Given the description of an element on the screen output the (x, y) to click on. 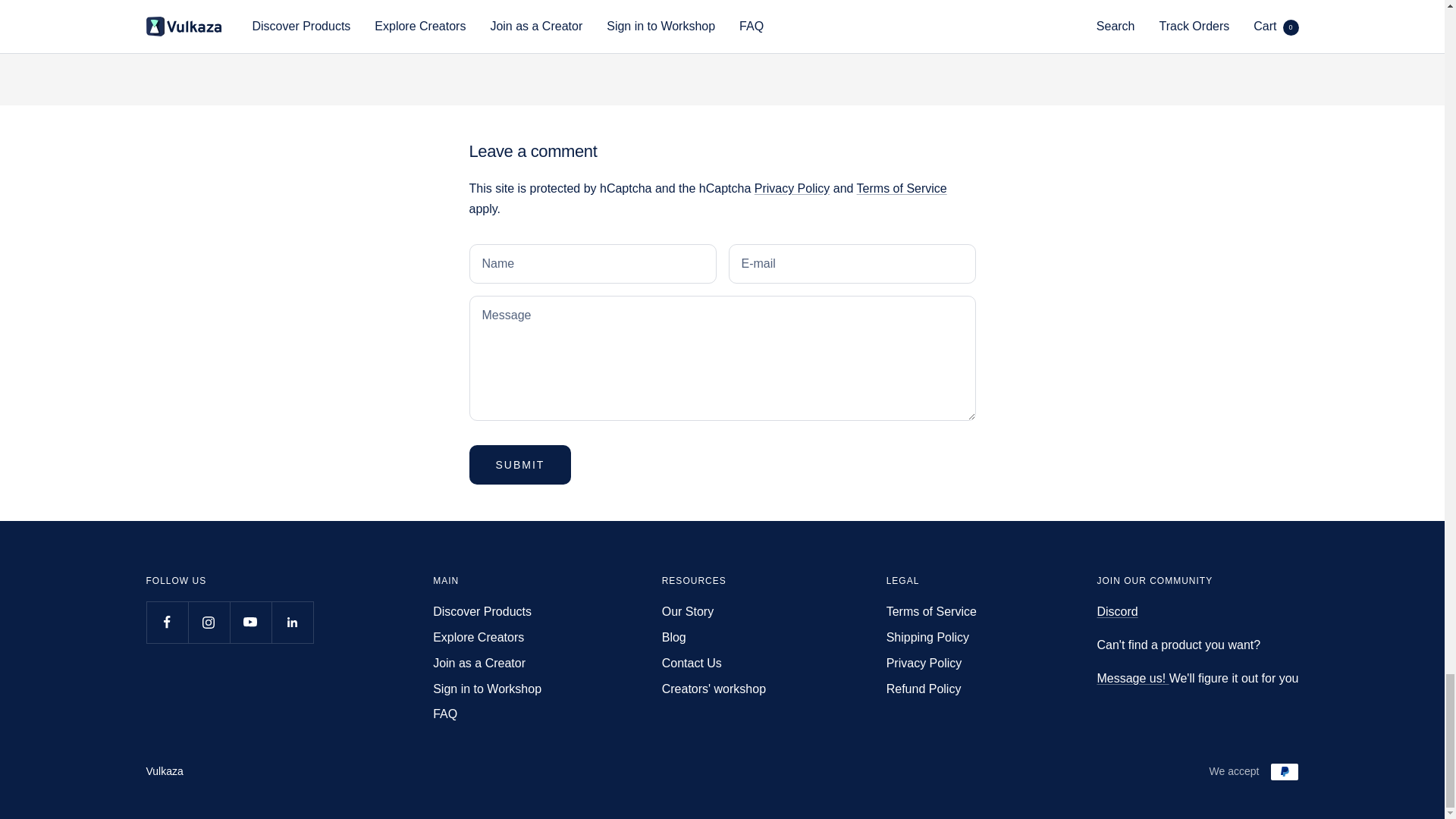
Discord (1116, 611)
